Given the description of an element on the screen output the (x, y) to click on. 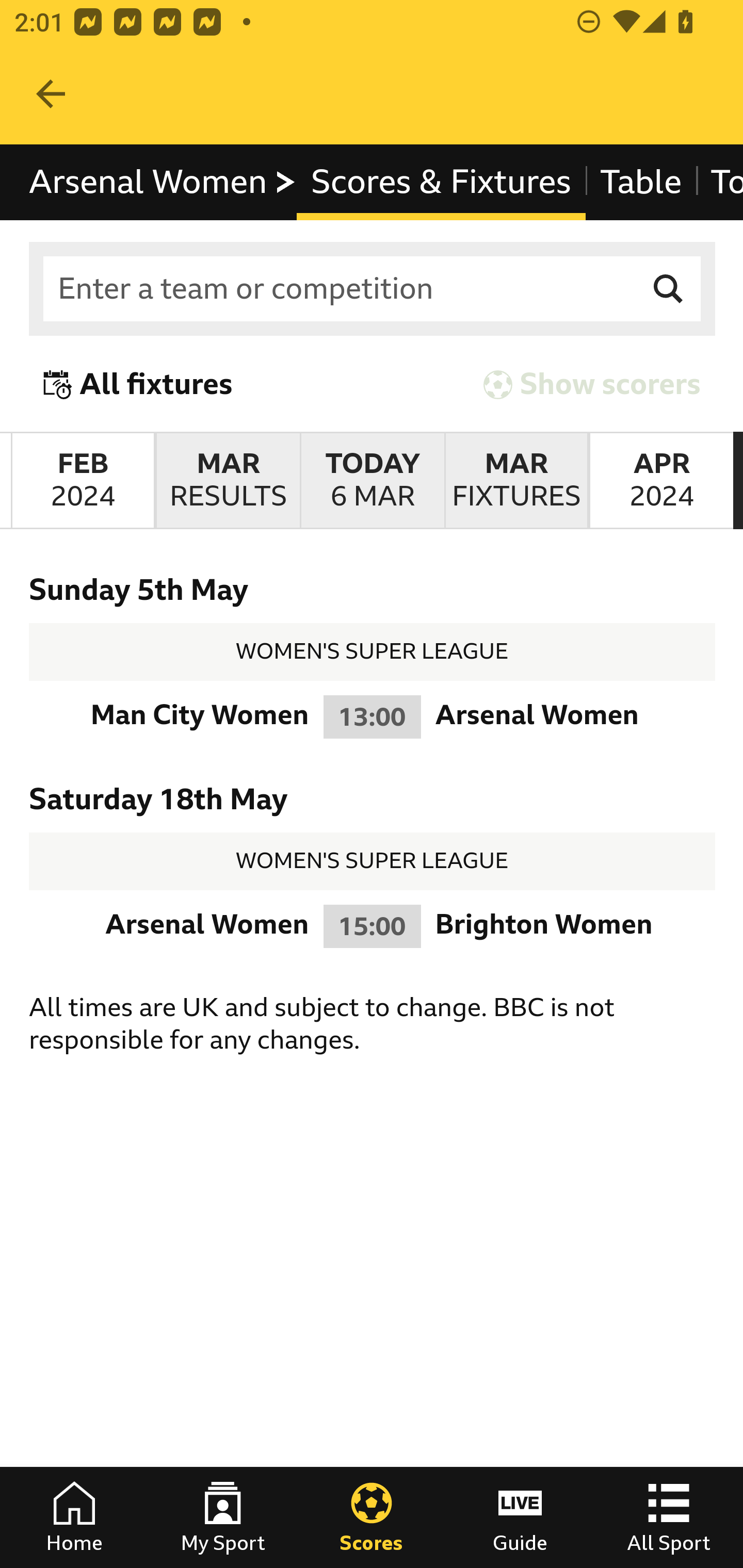
Navigate up (50, 93)
Arsenal Women  (162, 181)
Scores & Fixtures (441, 181)
Table (640, 181)
Search (669, 289)
All fixtures (137, 383)
Show scorers (591, 383)
February2024 February 2024 (83, 480)
MarchRESULTS March RESULTS (227, 480)
TodayMarch 6th Today March 6th (372, 480)
MarchFIXTURES March FIXTURES (516, 480)
April2024 April 2024 (661, 480)
Home (74, 1517)
My Sport (222, 1517)
Guide (519, 1517)
All Sport (668, 1517)
